Given the description of an element on the screen output the (x, y) to click on. 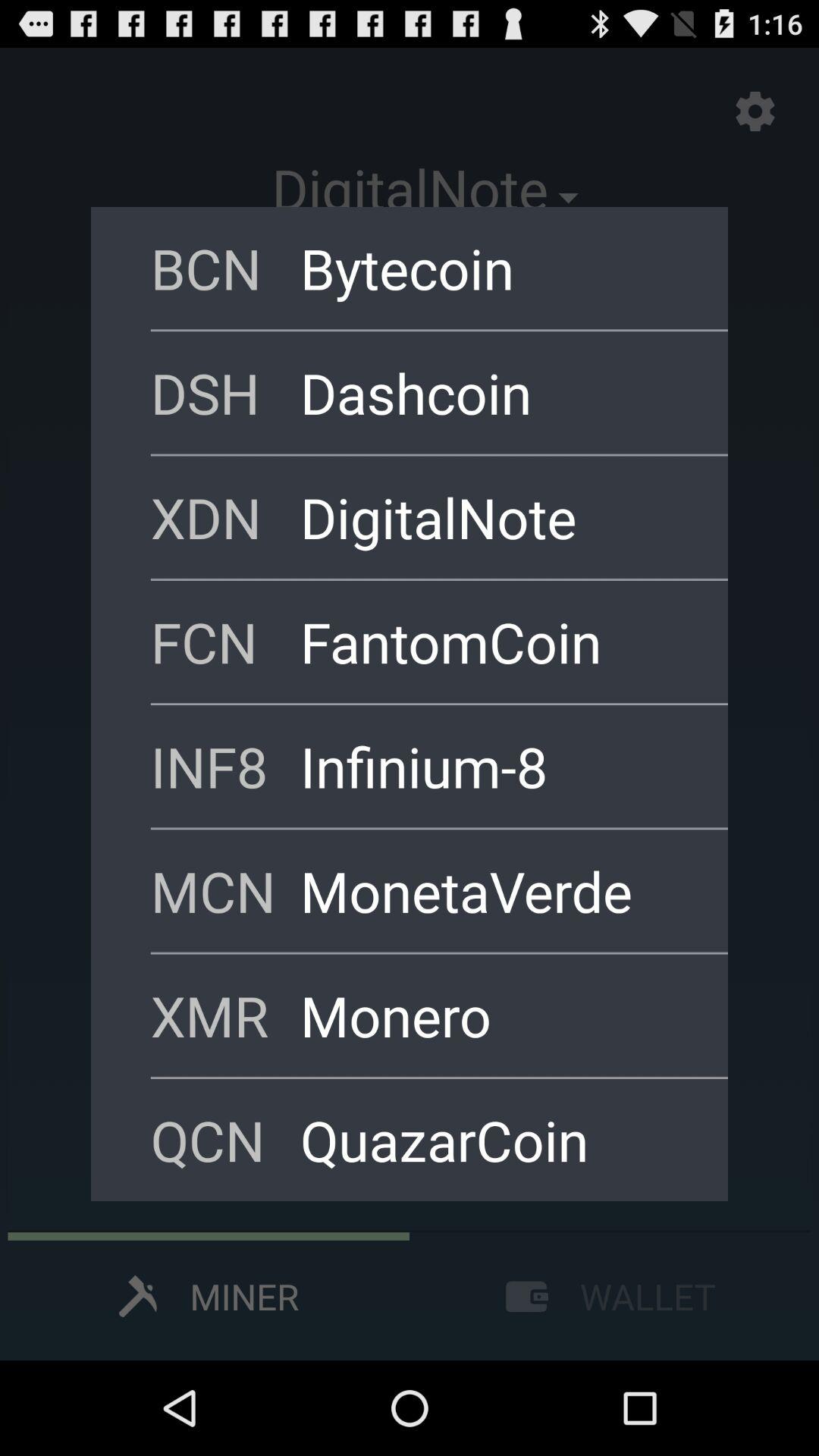
press the icon next to fcn icon (494, 641)
